Given the description of an element on the screen output the (x, y) to click on. 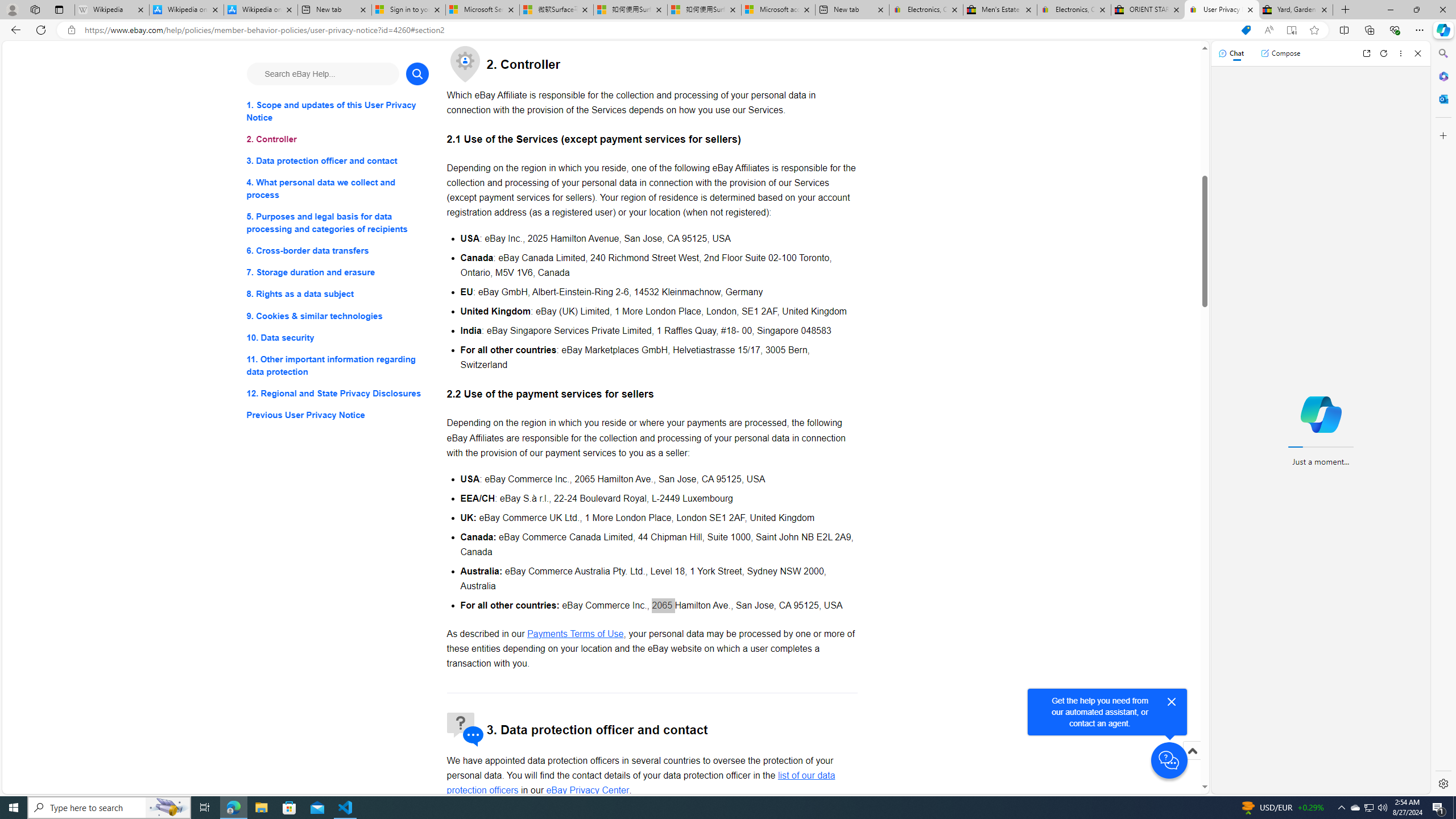
7. Storage duration and erasure (337, 272)
